Given the description of an element on the screen output the (x, y) to click on. 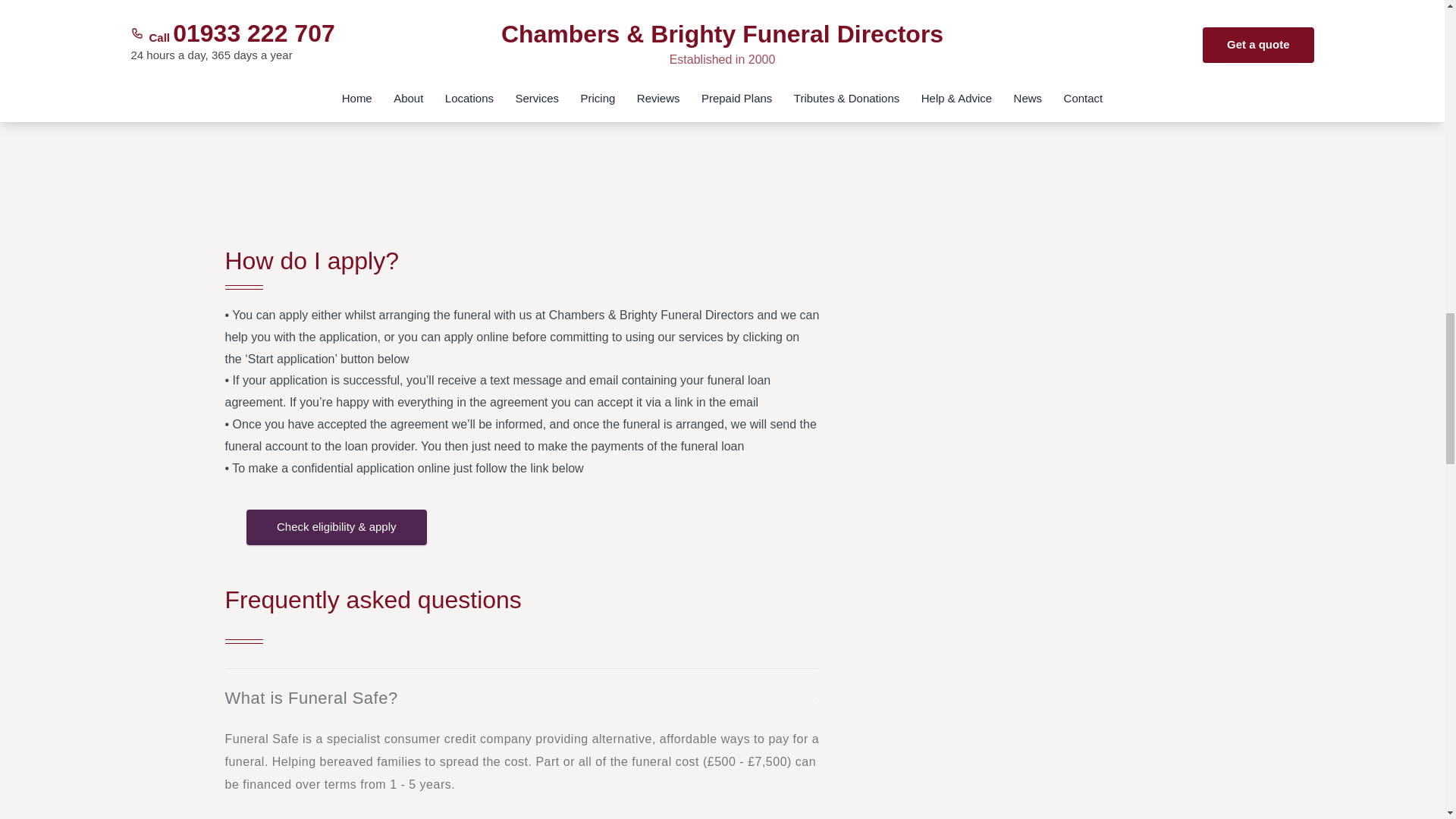
YouTube video player (521, 107)
